Given the description of an element on the screen output the (x, y) to click on. 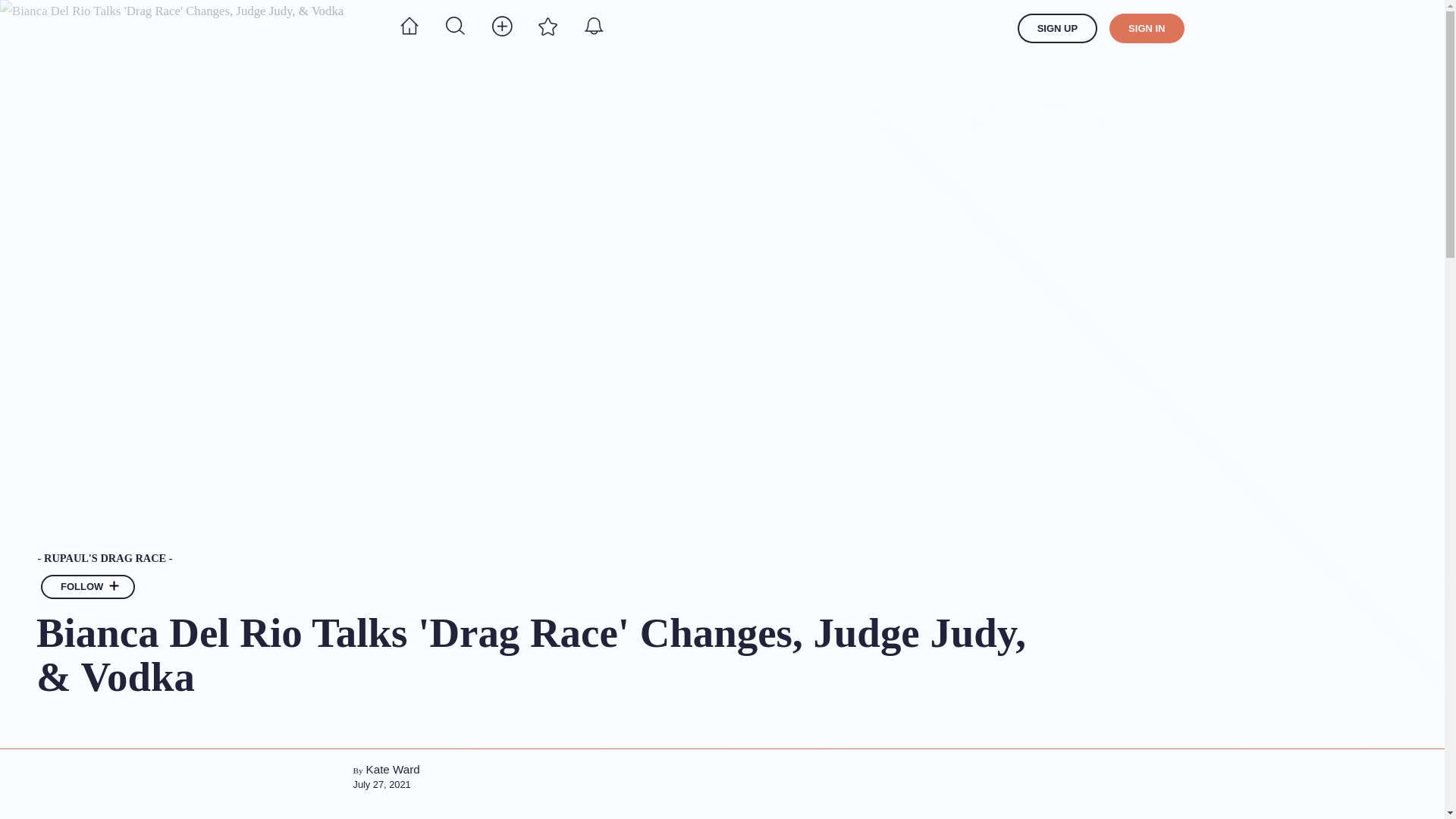
SIGN IN (1146, 28)
SIGN UP (1057, 28)
- RUPAUL'S DRAG RACE - (542, 559)
Dipp (317, 28)
Kate Ward (393, 768)
FOLLOW (87, 586)
